Given the description of an element on the screen output the (x, y) to click on. 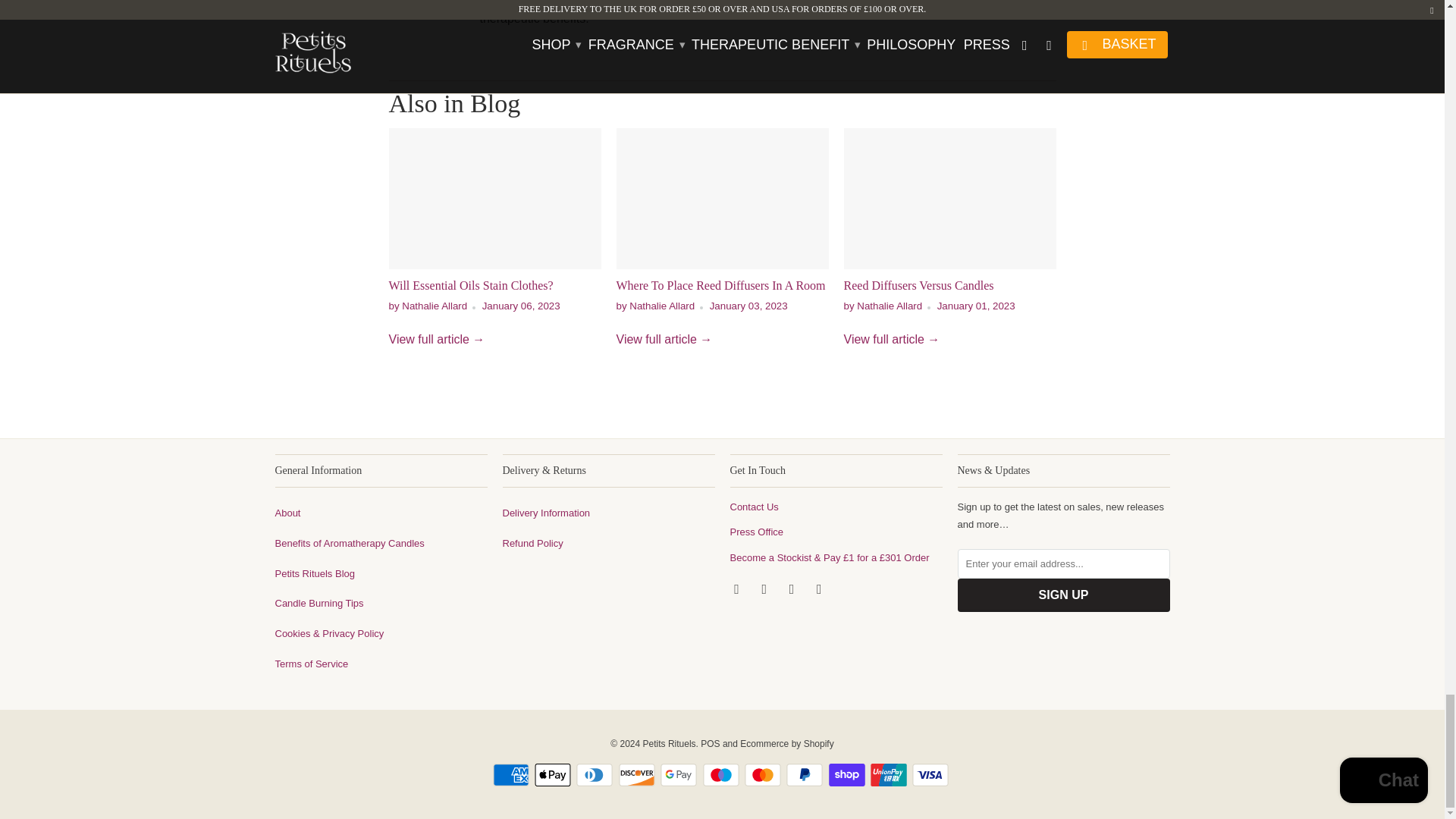
Shop Pay (847, 774)
American Express (512, 774)
Union Pay (890, 774)
Reed Diffusers Versus Candles (949, 198)
Where To Place Reed Diffusers In A Room (663, 338)
Discover (638, 774)
Maestro (721, 774)
Reed Diffusers Versus Candles (917, 285)
Where To Place Reed Diffusers In A Room (721, 198)
Mastercard (764, 774)
